Given the description of an element on the screen output the (x, y) to click on. 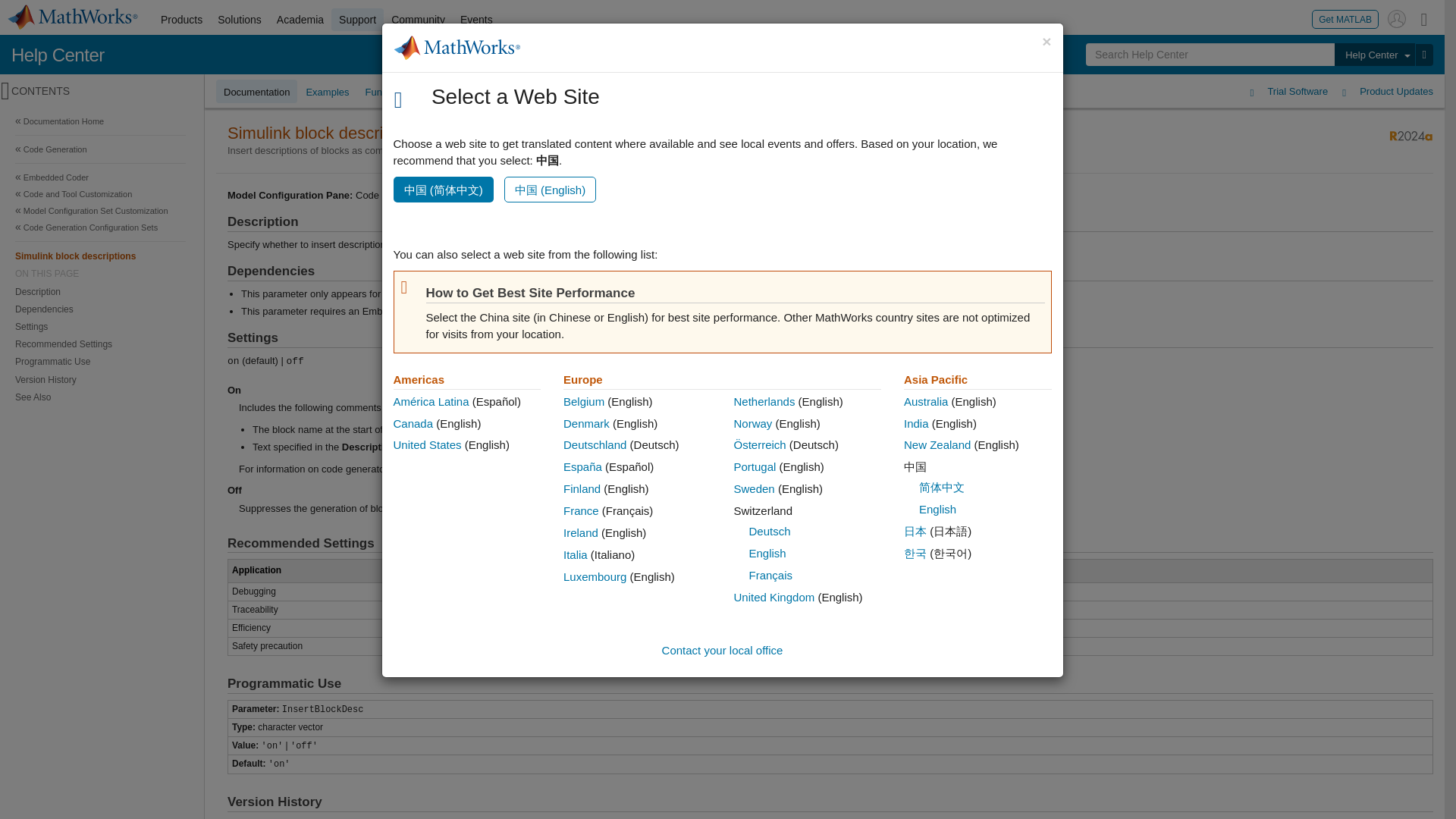
Community (418, 19)
Sign In to Your MathWorks Account (1396, 18)
Get MATLAB (1344, 18)
Simulink block descriptions (100, 255)
Products (180, 19)
Support (357, 19)
Matrix Menu (1423, 18)
Events (476, 19)
Academia (300, 19)
ON THIS PAGE (100, 273)
Solutions (239, 19)
